Given the description of an element on the screen output the (x, y) to click on. 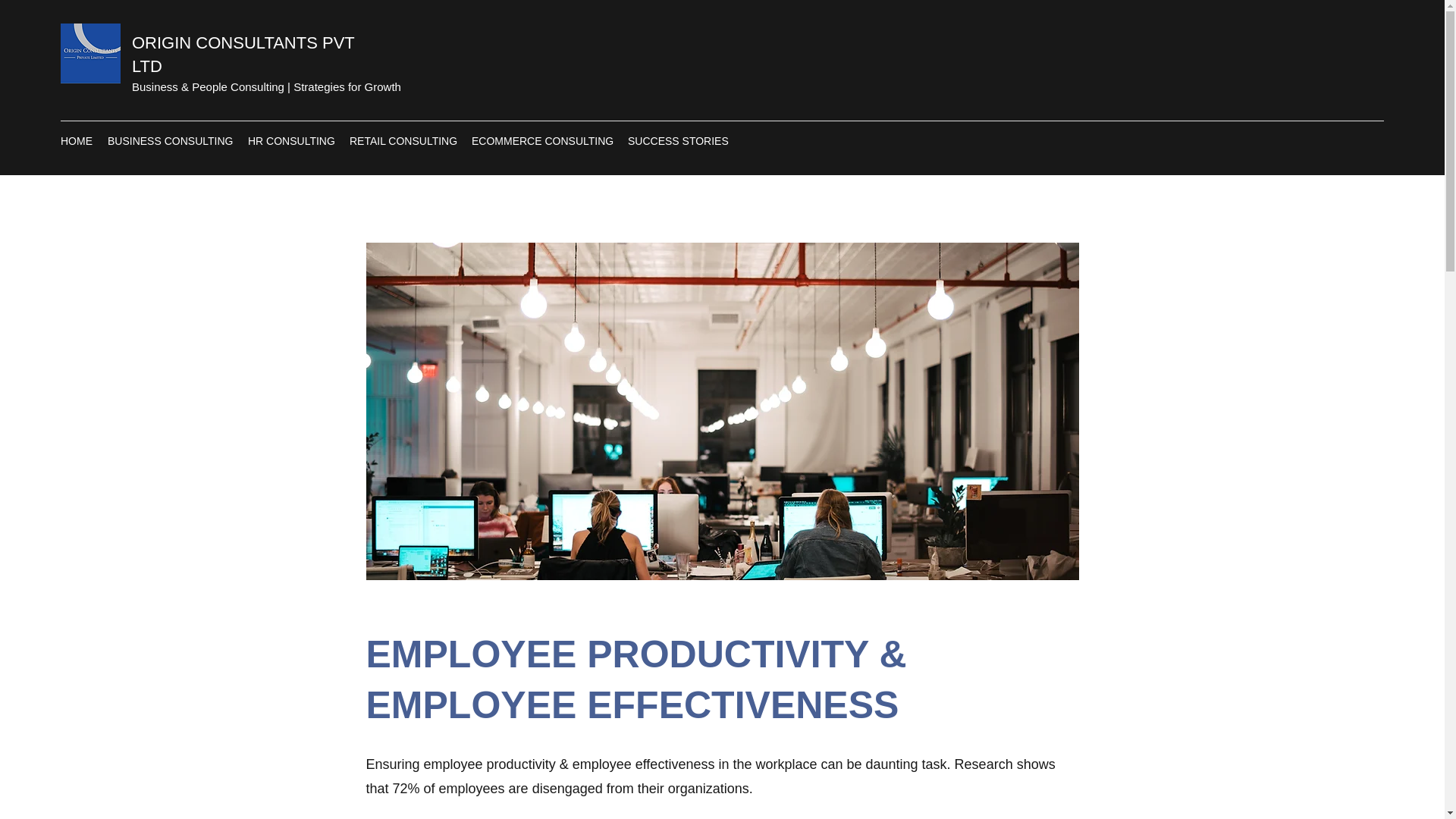
ECOMMERCE CONSULTING (542, 140)
HOME (76, 140)
BUSINESS CONSULTING (170, 140)
RETAIL CONSULTING (403, 140)
ORIGIN CONSULTANTS PVT LTD (242, 54)
HR CONSULTING (291, 140)
SUCCESS STORIES (676, 140)
